Given the description of an element on the screen output the (x, y) to click on. 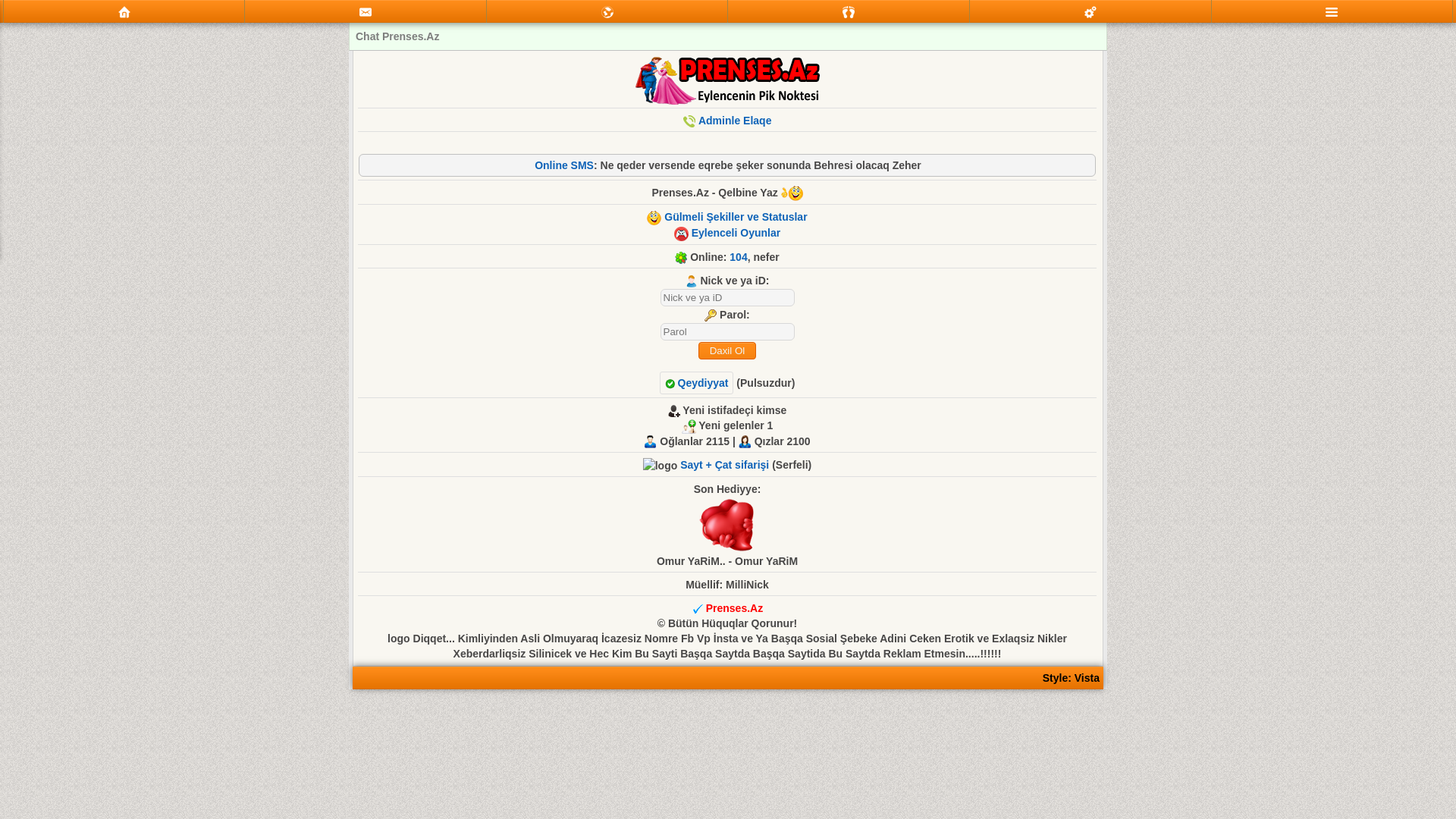
Mesajlar Element type: hover (365, 11)
Qeydiyyat Element type: text (696, 382)
Adminle Elaqe Element type: text (734, 120)
nick Element type: hover (726, 297)
Parol Element type: hover (726, 331)
Mesajlar Element type: hover (365, 12)
Mektublar Element type: hover (607, 12)
Mektublar Element type: hover (607, 11)
Online SMS Element type: text (563, 165)
Qonaqlar Element type: hover (848, 11)
104 Element type: text (737, 257)
Prenses.Az Element type: text (734, 608)
Eylenceli Oyunlar Element type: text (736, 232)
Ana Sehife Element type: hover (123, 11)
Style: Vista Element type: text (1070, 677)
Daxil Ol Element type: text (726, 350)
Qonaqlar Element type: hover (848, 12)
Ana Sehife Element type: hover (124, 12)
